Given the description of an element on the screen output the (x, y) to click on. 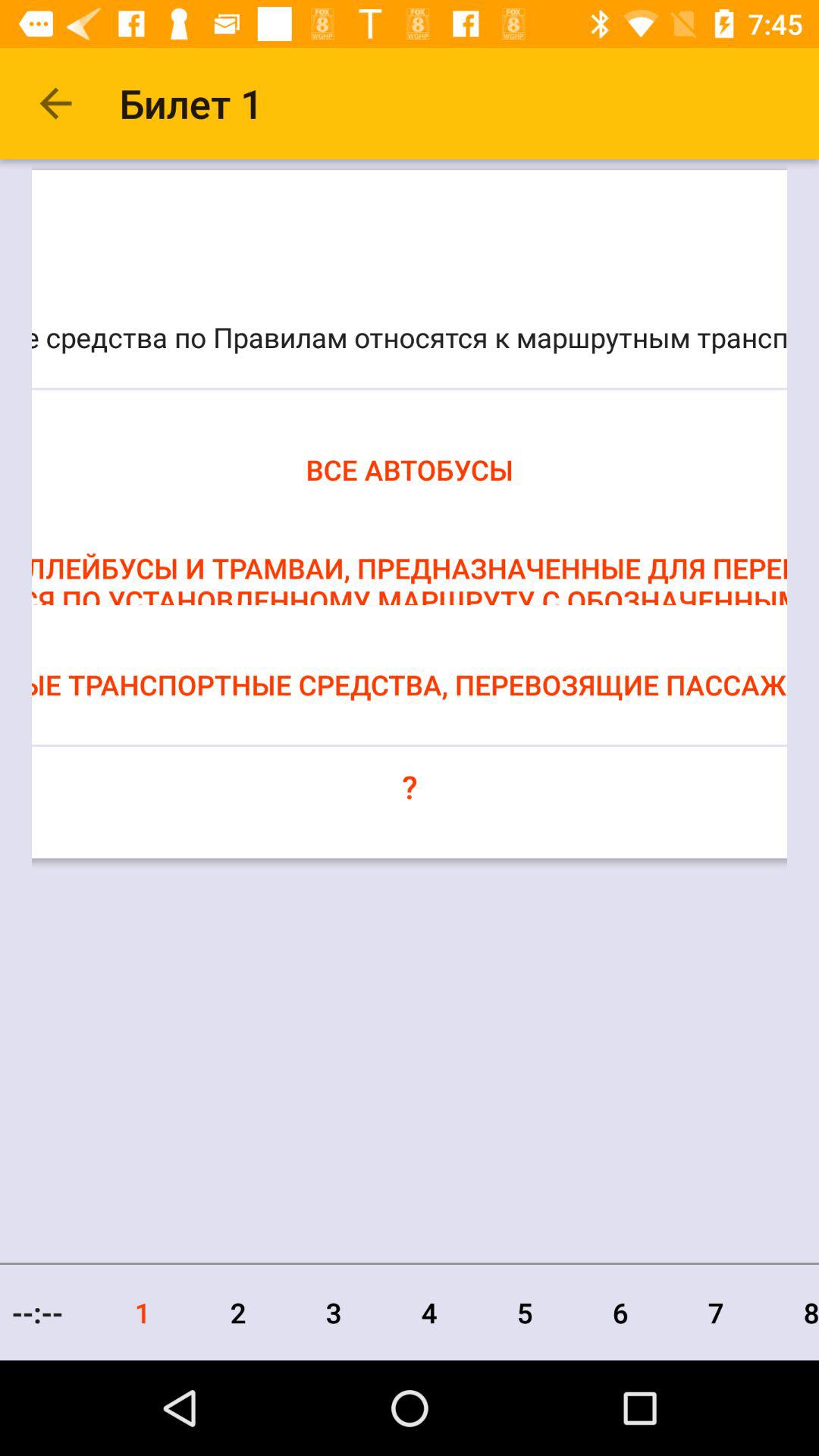
jump until 5 (524, 1312)
